Given the description of an element on the screen output the (x, y) to click on. 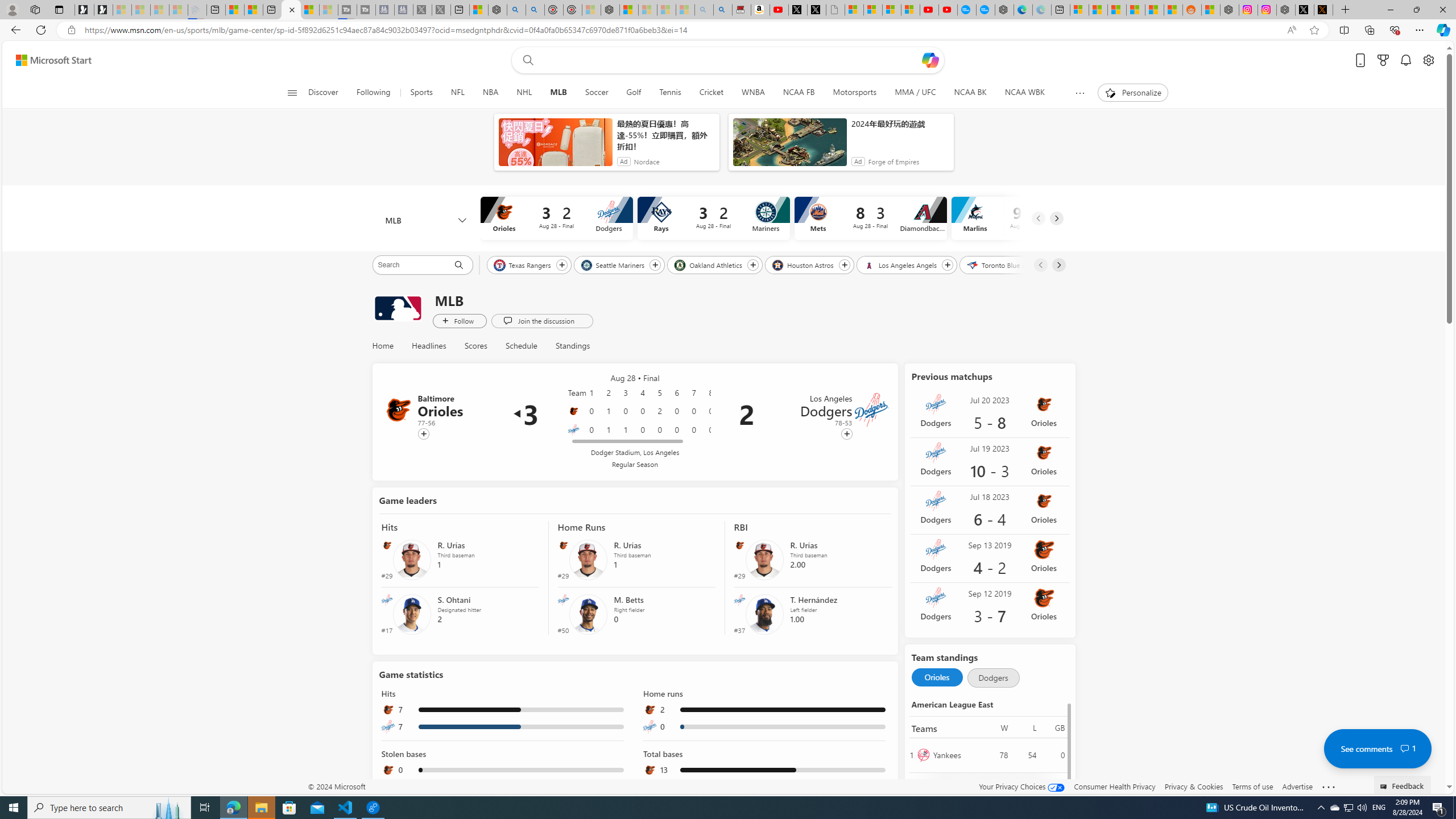
NHL (523, 92)
Skip to footer (46, 59)
Next (1058, 264)
WNBA (753, 92)
Standings (571, 345)
NHL (524, 92)
X - Sleeping (440, 9)
Address and search bar (680, 29)
Dodgers (992, 677)
Class: cwt-icon-vector (1404, 748)
NCAA BK (970, 92)
